Given the description of an element on the screen output the (x, y) to click on. 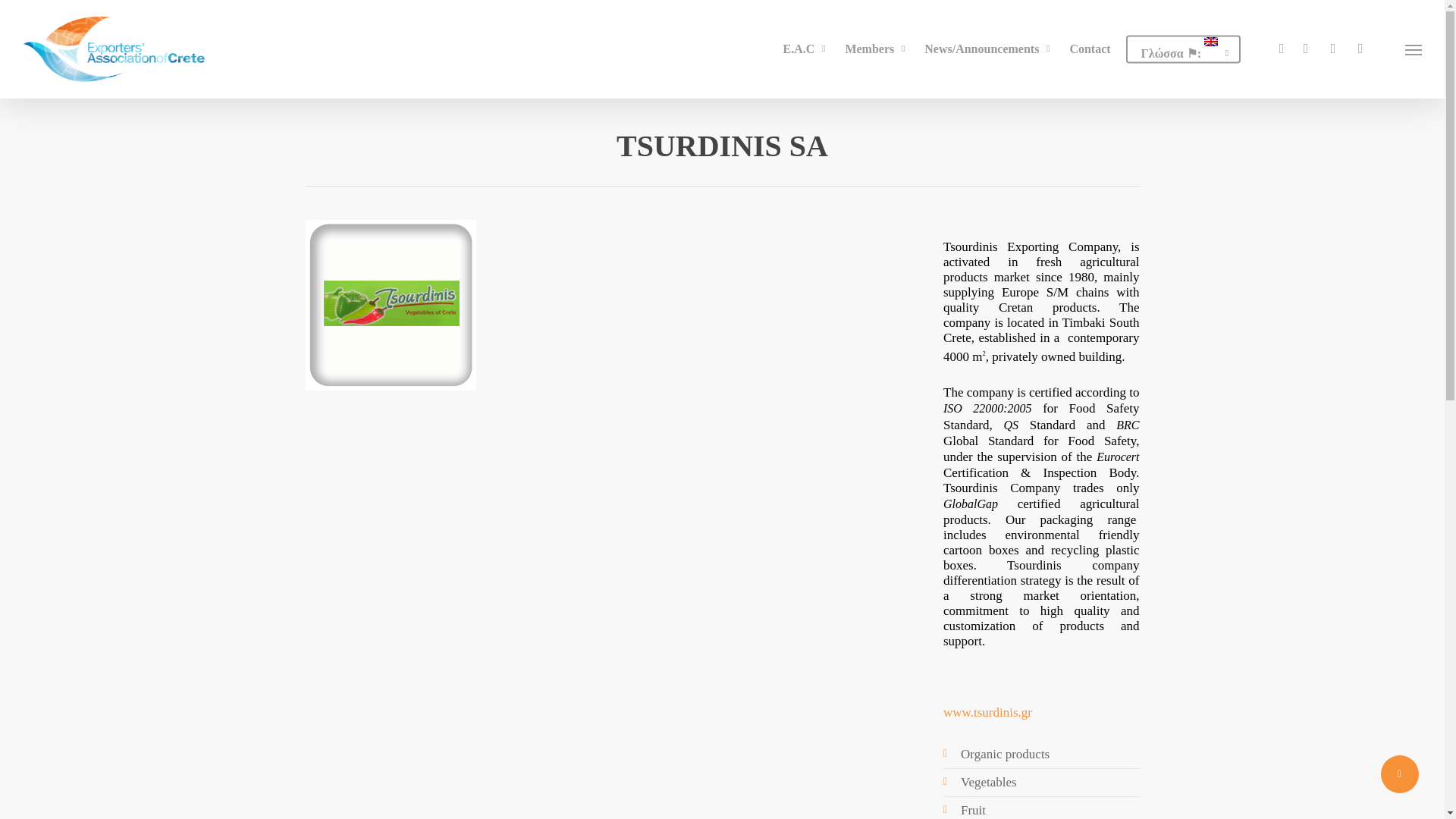
facebook (1281, 48)
E.A.C (807, 48)
Members (877, 48)
English (1182, 48)
Contact (1089, 48)
